Given the description of an element on the screen output the (x, y) to click on. 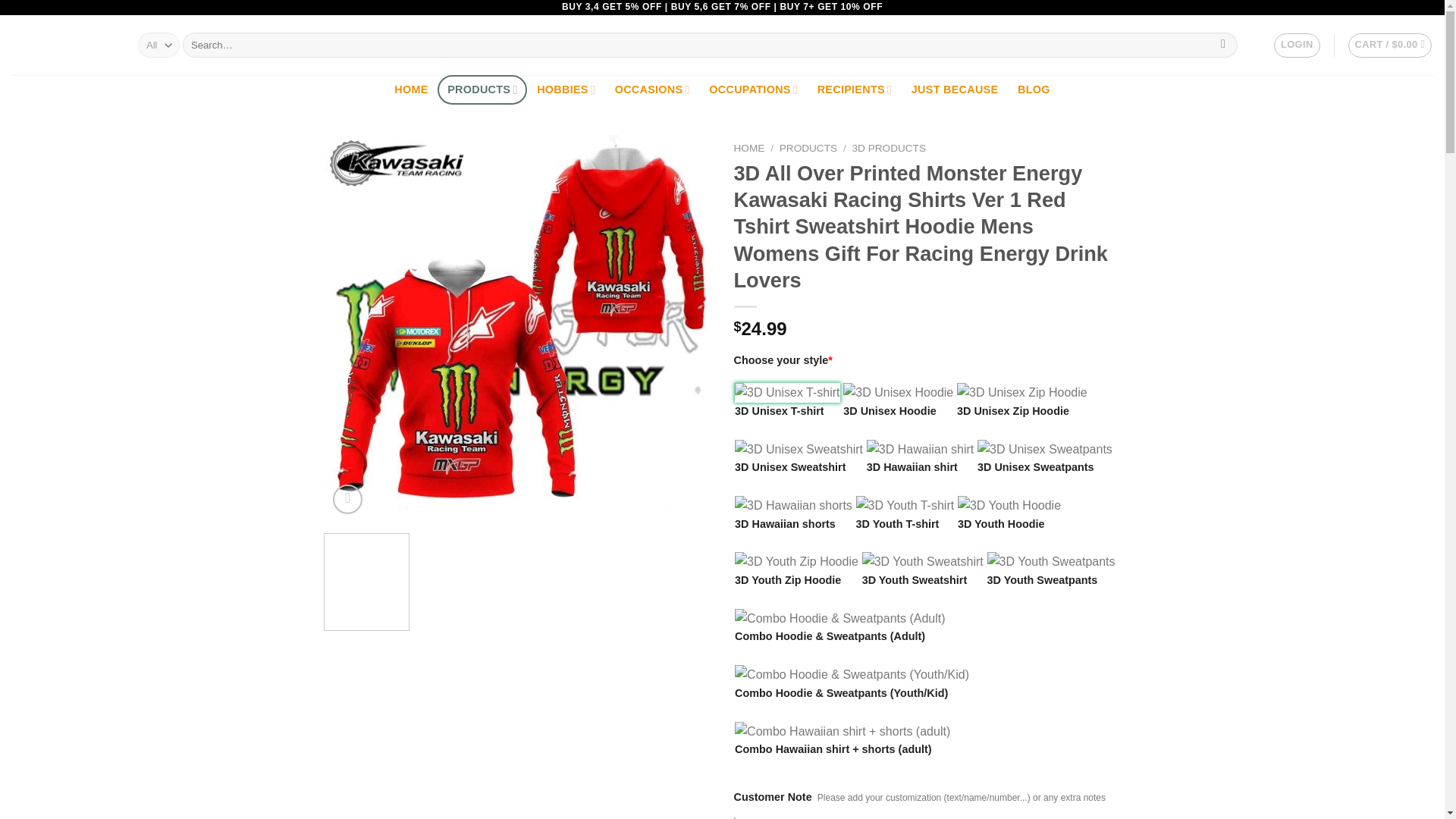
HOME (411, 89)
Search (1223, 45)
Cart (1390, 45)
Beeteehouse - Just Your Style (63, 45)
LOGIN (1296, 45)
PRODUCTS (482, 89)
HOBBIES (566, 89)
Zoom (347, 499)
